Given the description of an element on the screen output the (x, y) to click on. 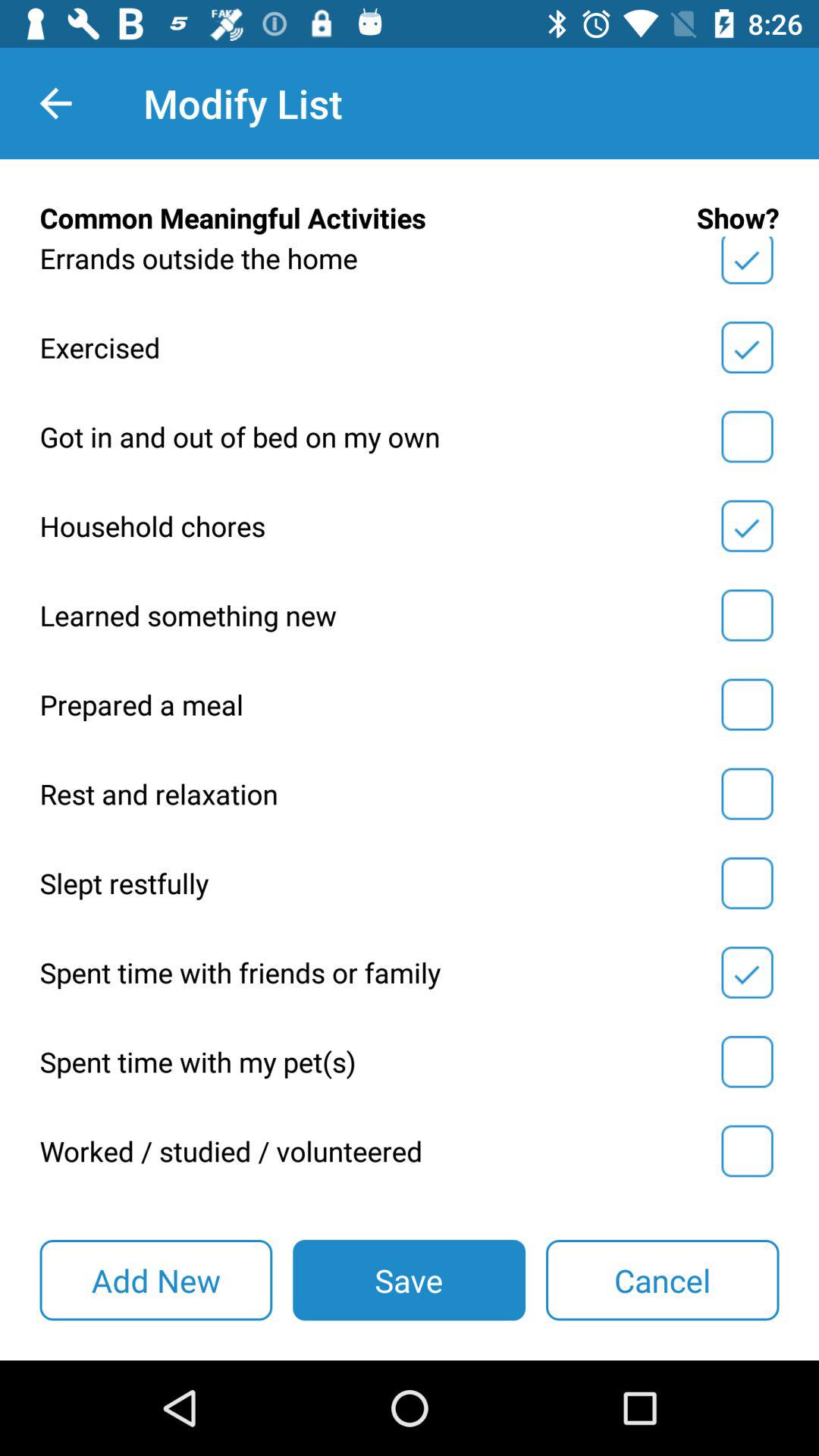
tap add new item (155, 1279)
